Given the description of an element on the screen output the (x, y) to click on. 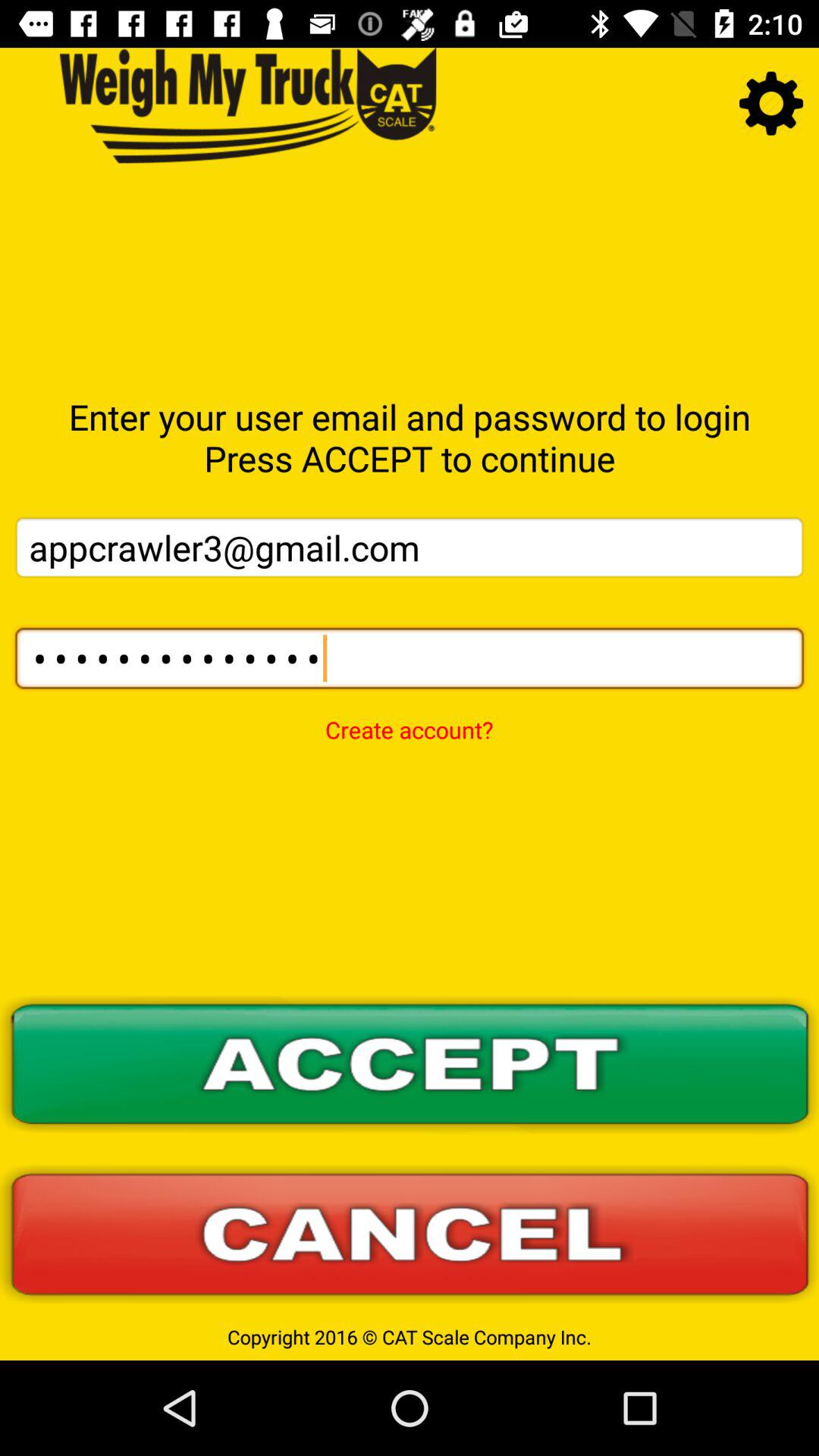
turn off the create account? item (409, 719)
